Given the description of an element on the screen output the (x, y) to click on. 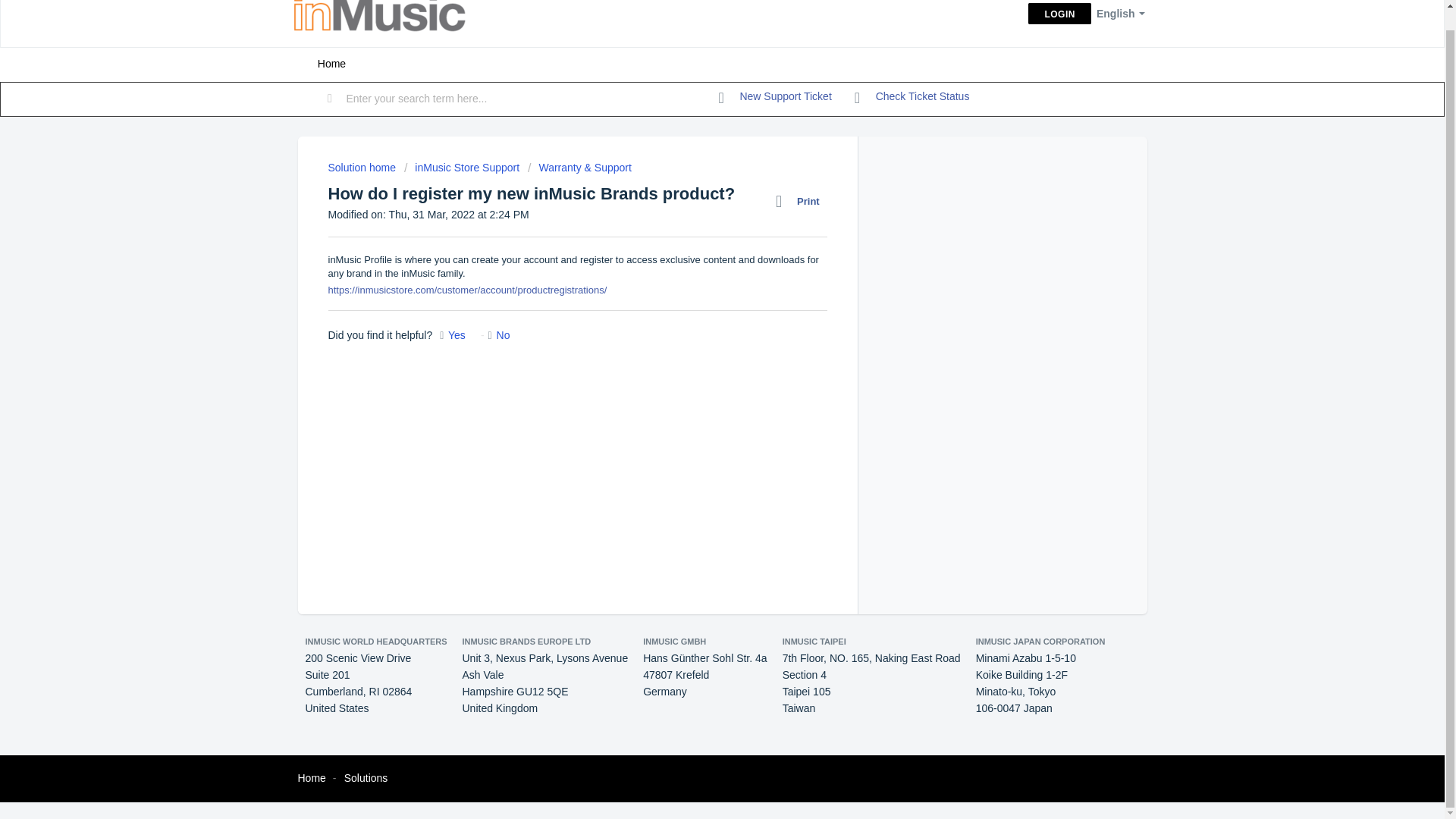
LOGIN (1058, 13)
Check ticket status (911, 96)
Check Ticket Status (911, 96)
Home (310, 777)
Home (331, 63)
Print this Article (801, 201)
Solution home (362, 167)
New Support Ticket (775, 96)
Solutions (365, 777)
New support ticket (775, 96)
Print (801, 201)
inMusic Store Support (461, 167)
